Given the description of an element on the screen output the (x, y) to click on. 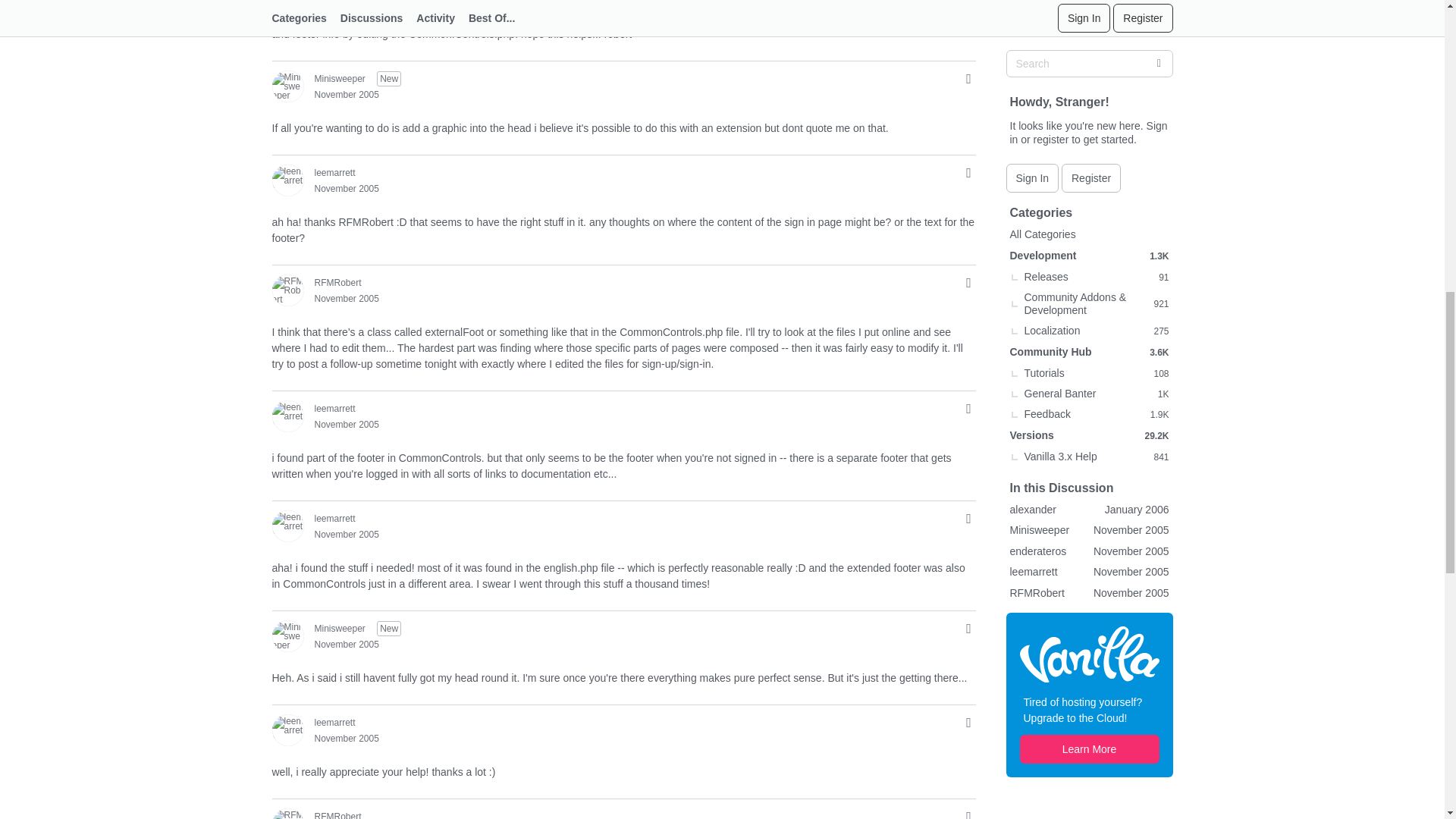
Minisweeper (286, 86)
